Given the description of an element on the screen output the (x, y) to click on. 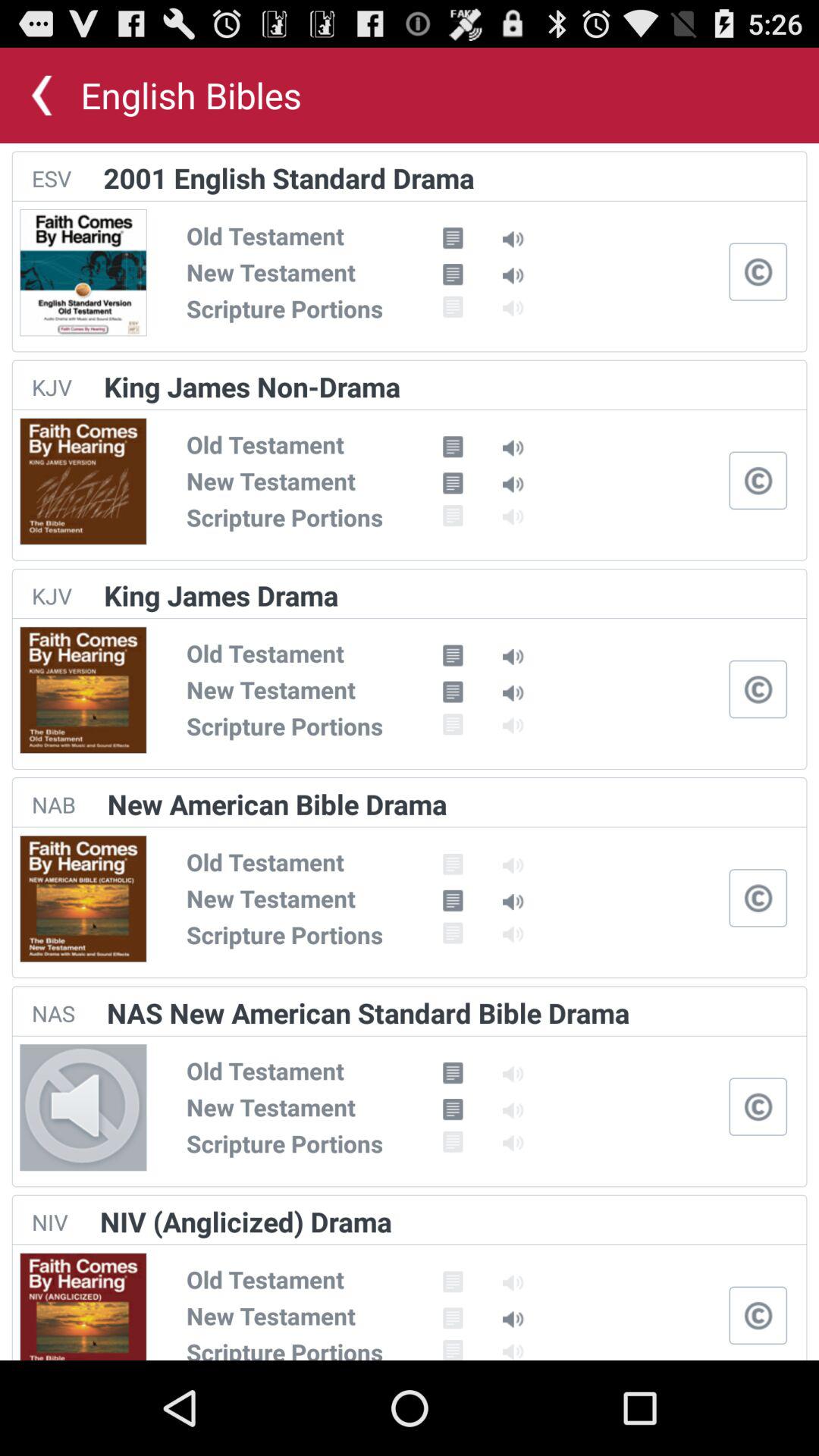
turn on the nab item (53, 804)
